Given the description of an element on the screen output the (x, y) to click on. 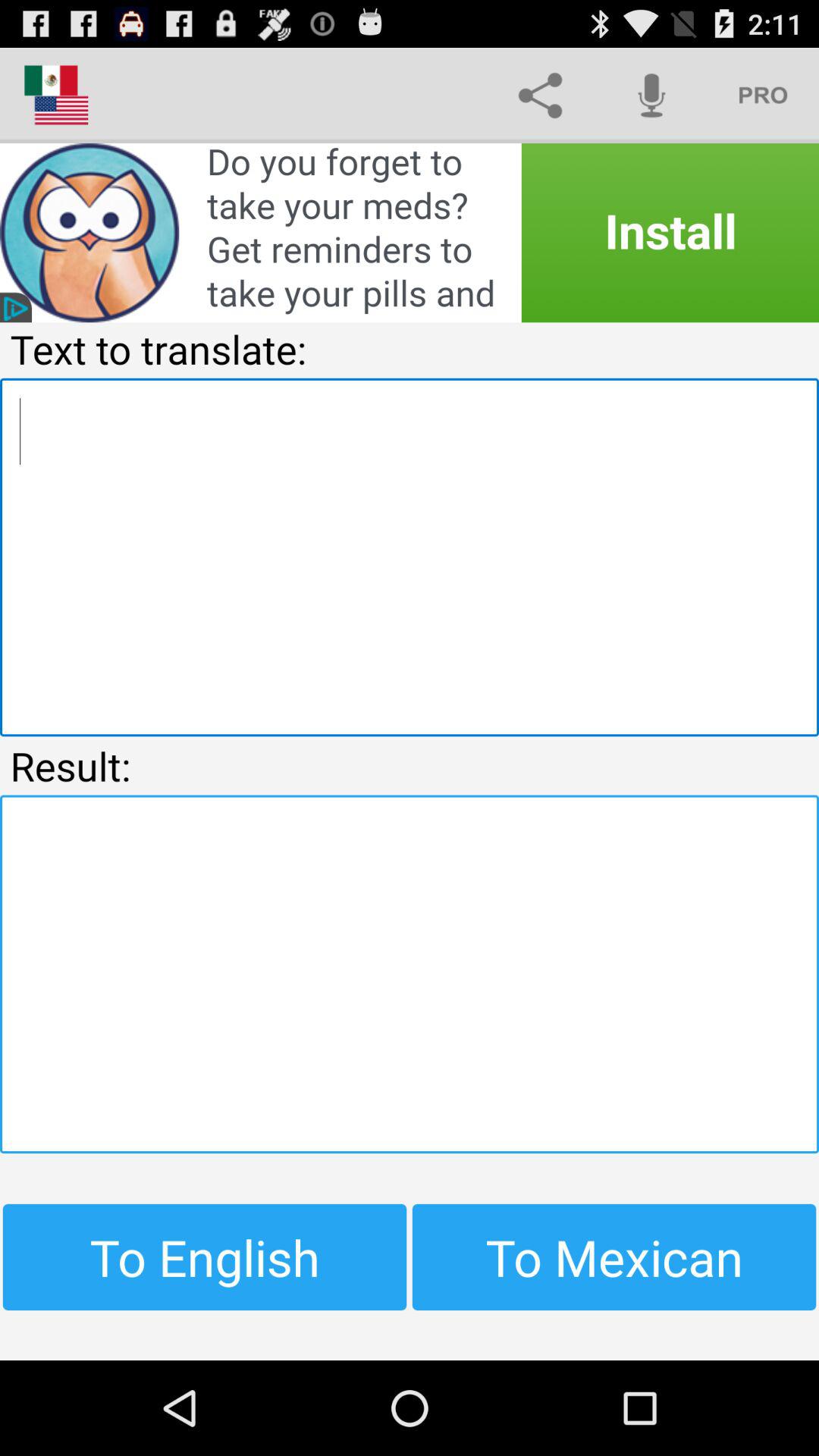
text to translate (409, 557)
